Given the description of an element on the screen output the (x, y) to click on. 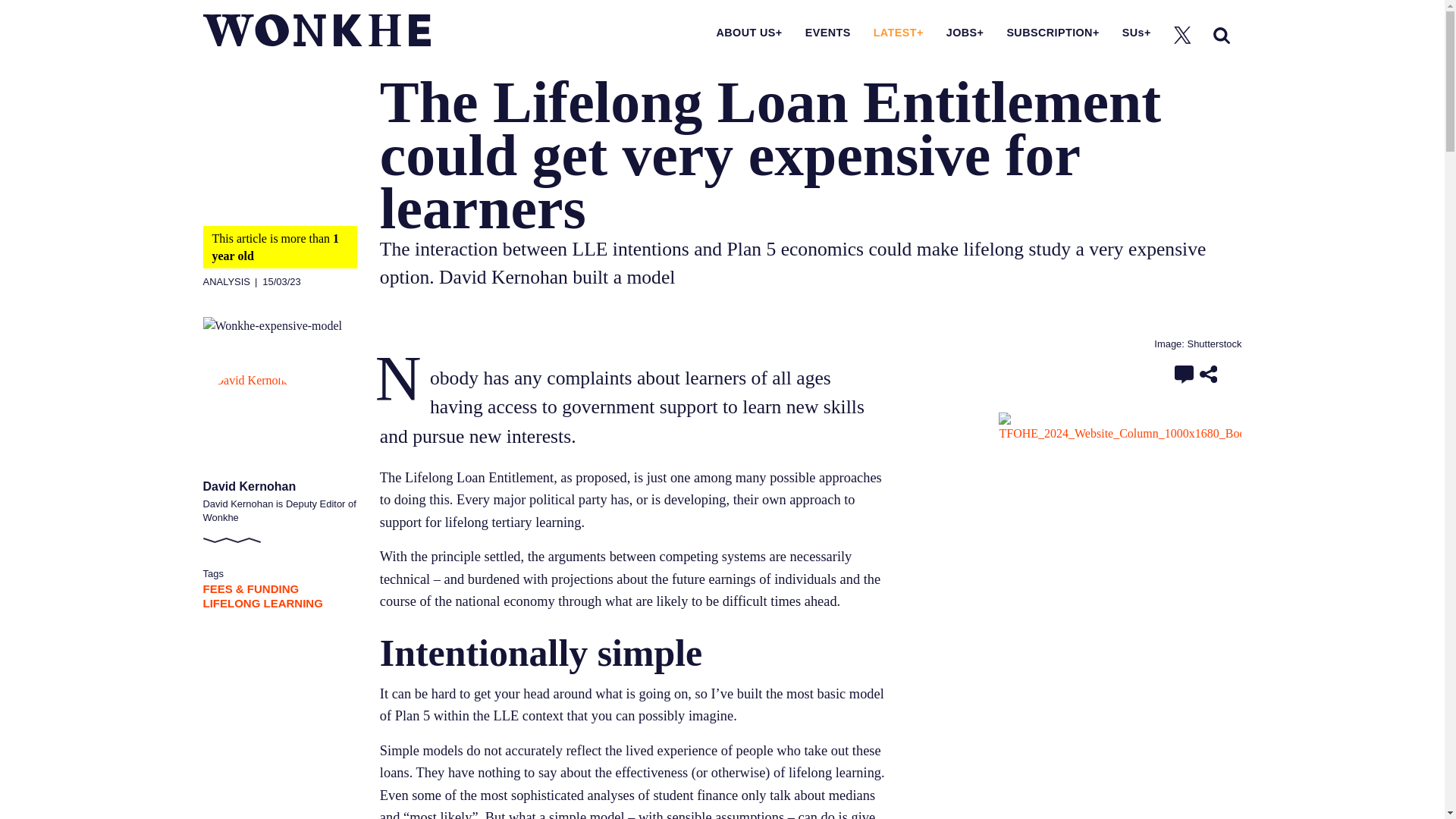
SUBSCRIPTION (1052, 32)
icon-search (1221, 35)
LATEST (898, 32)
ABOUT US (748, 32)
JOBS (965, 32)
EVENTS (827, 32)
icon-share (1208, 374)
icon-comments (1183, 374)
SUs (1136, 32)
icon-search (1221, 35)
